Given the description of an element on the screen output the (x, y) to click on. 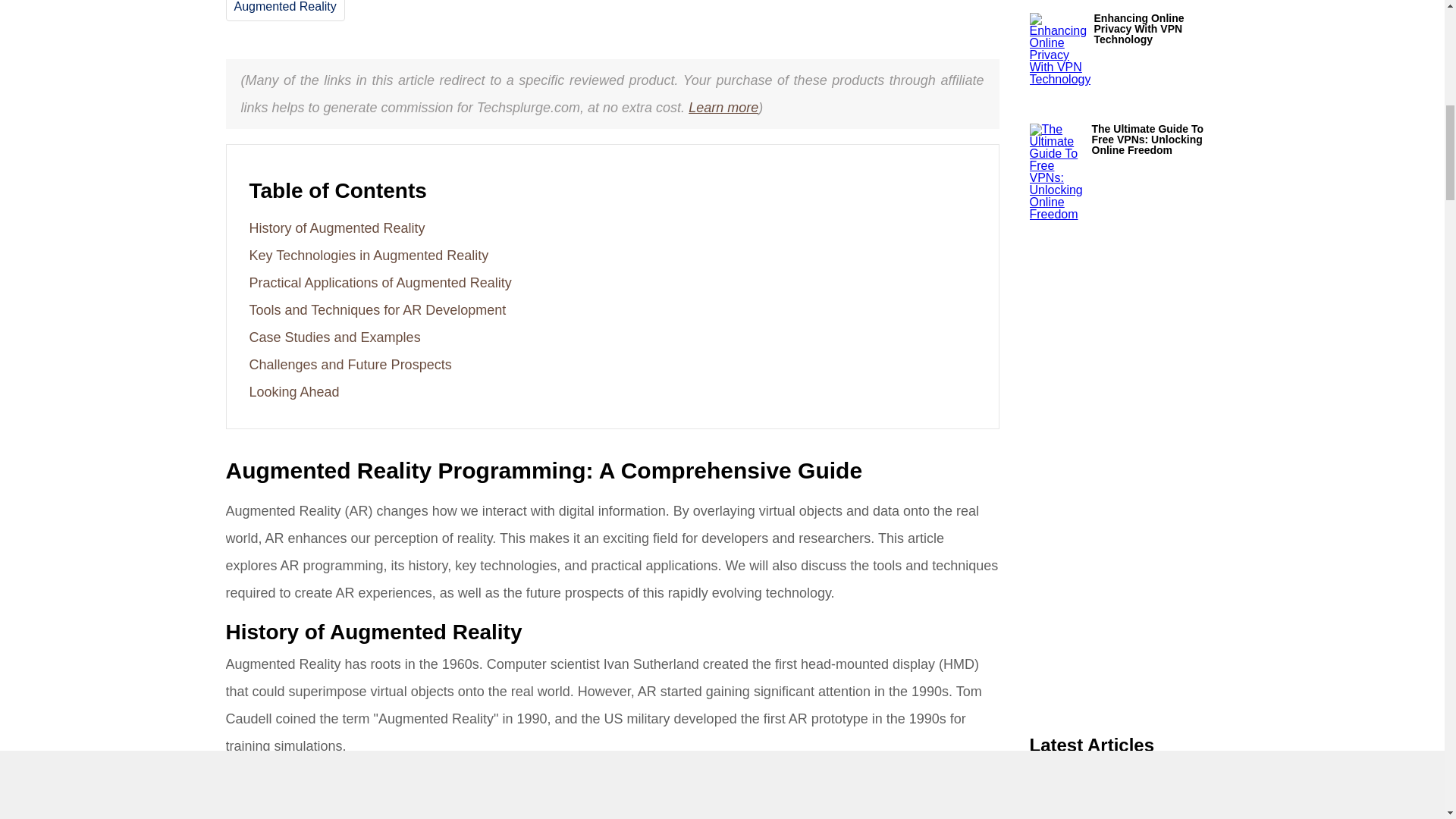
Practical Applications of Augmented Reality (379, 282)
Case Studies and Examples (334, 337)
Learn more (723, 107)
Augmented Reality (284, 6)
History of Augmented Reality (336, 227)
Tools and Techniques for AR Development (376, 309)
Key Technologies in Augmented Reality (367, 255)
Challenges and Future Prospects (349, 364)
Looking Ahead (293, 391)
